Given the description of an element on the screen output the (x, y) to click on. 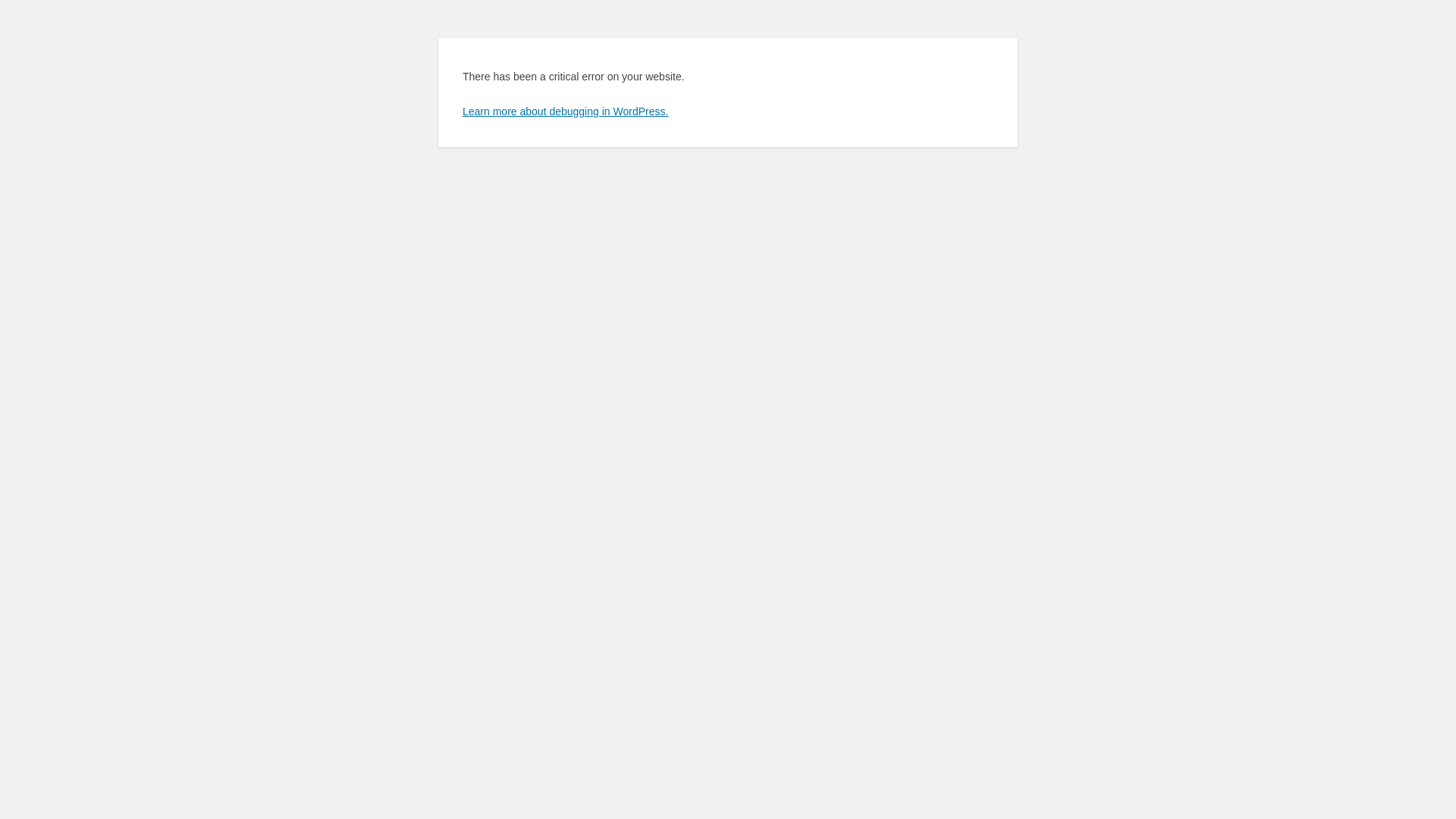
Learn more about debugging in WordPress. Element type: text (565, 111)
